Given the description of an element on the screen output the (x, y) to click on. 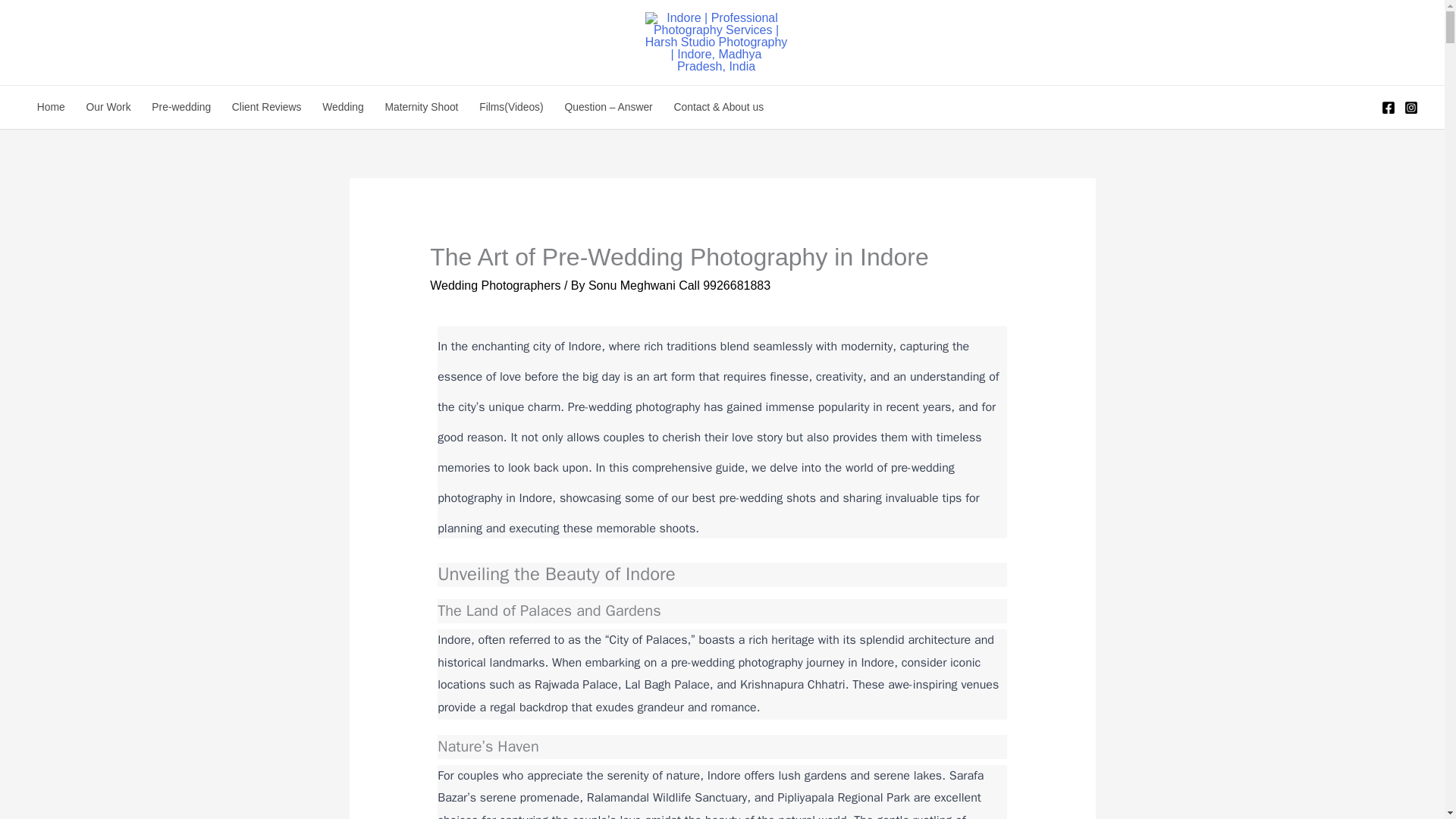
Wedding Photographers (494, 285)
Wedding (342, 106)
View all posts by Sonu Meghwani Call 9926681883 (679, 285)
Sonu Meghwani Call 9926681883 (679, 285)
Maternity Shoot (421, 106)
Client Reviews (266, 106)
Our Work (108, 106)
Pre-wedding (181, 106)
Home (50, 106)
